Given the description of an element on the screen output the (x, y) to click on. 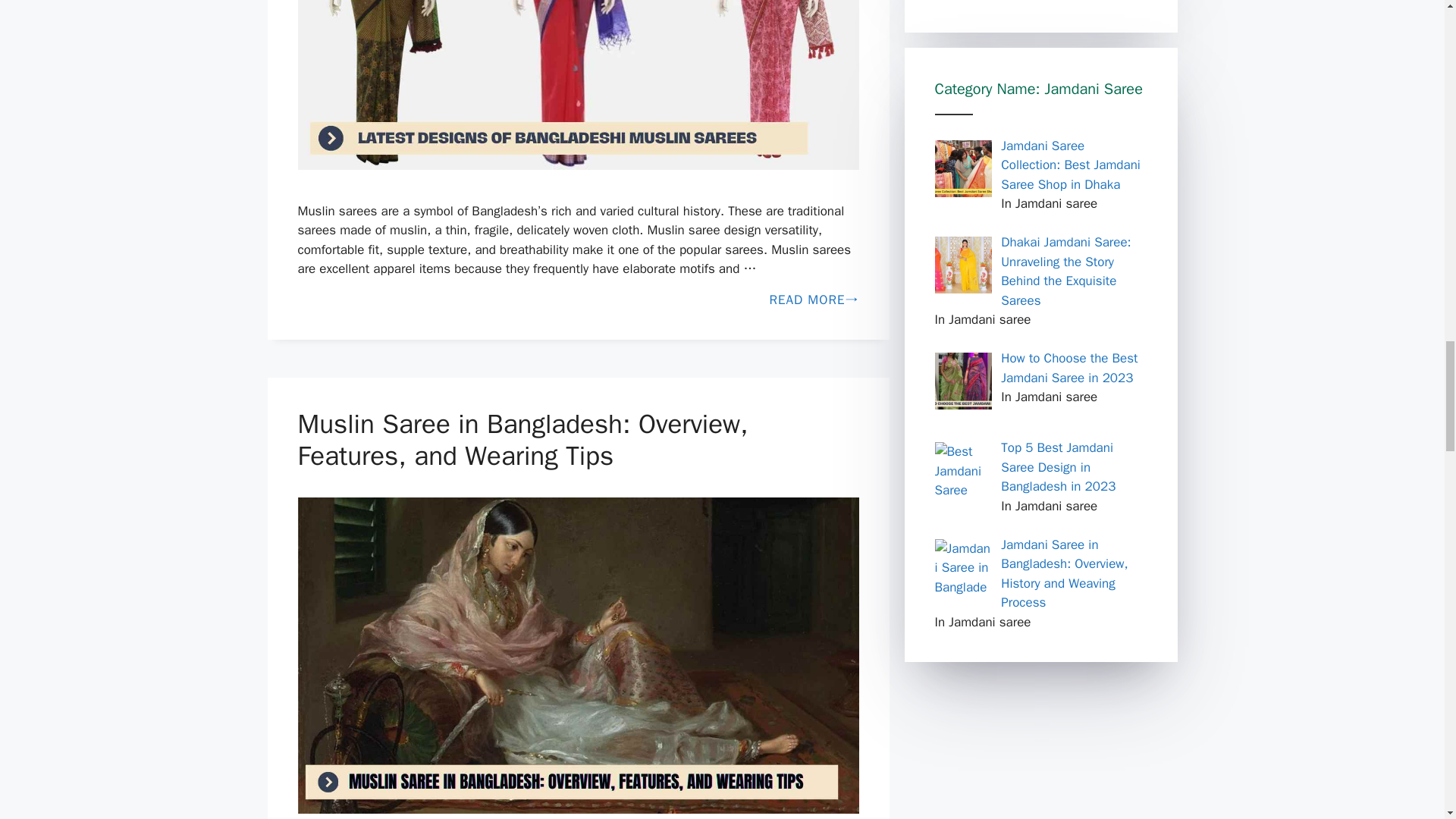
READ MORE (578, 300)
